Given the description of an element on the screen output the (x, y) to click on. 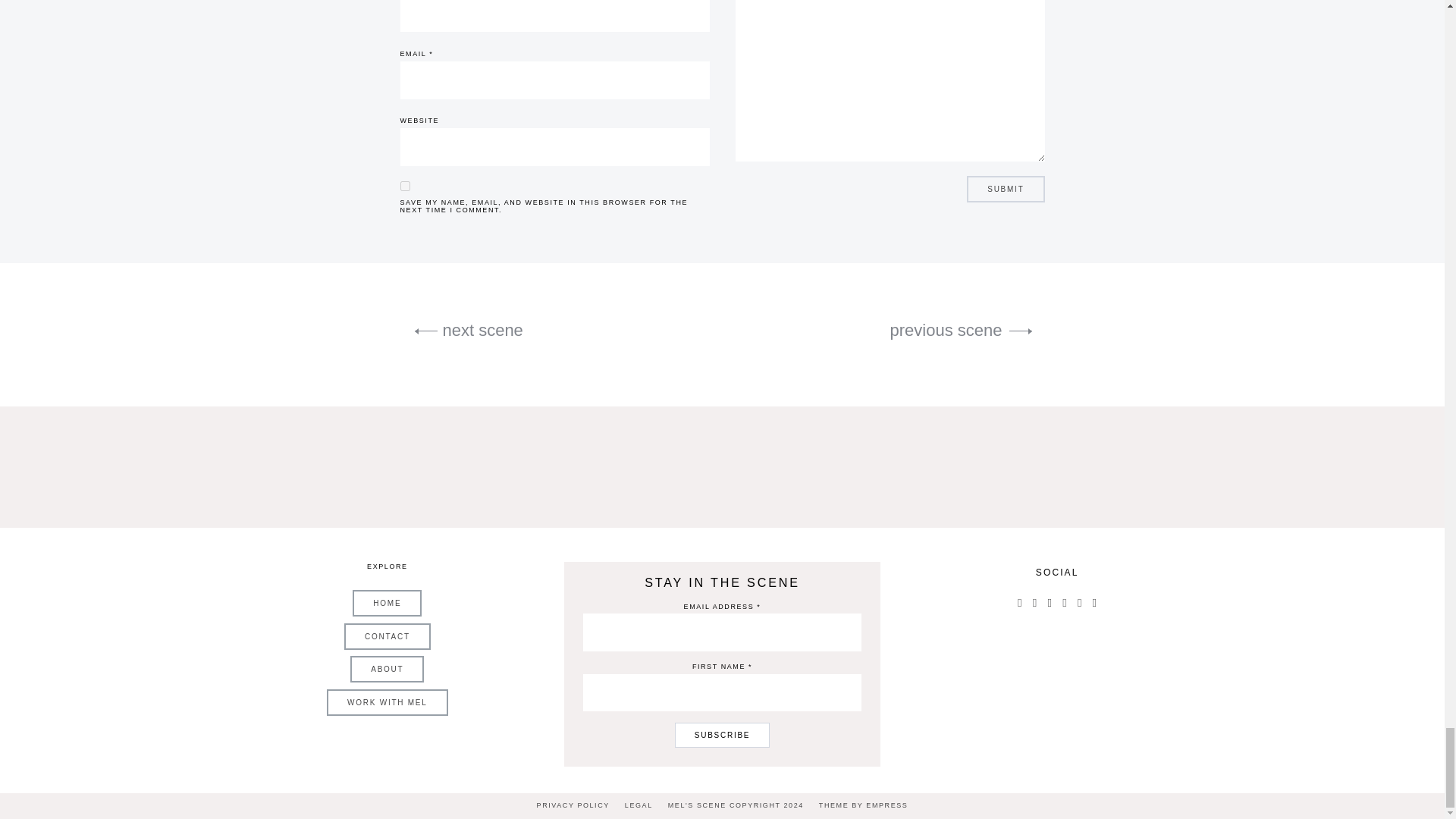
yes (405, 185)
Submit (1004, 189)
Subscribe (722, 734)
